Given the description of an element on the screen output the (x, y) to click on. 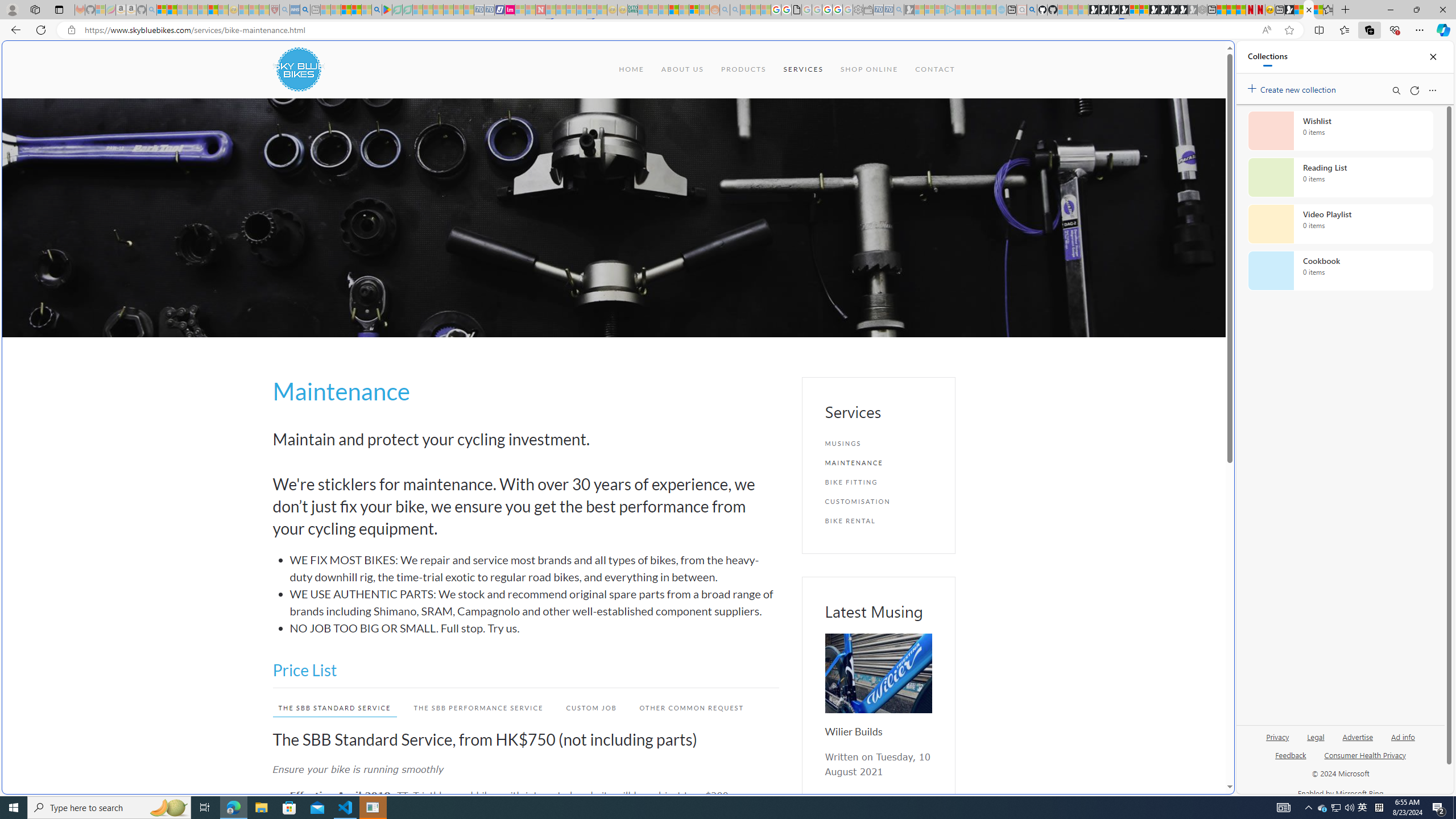
Latest Politics News & Archive | Newsweek.com - Sleeping (539, 9)
View site information (70, 29)
utah sues federal government - Search (304, 9)
New Tab (1346, 9)
Close tab (1308, 9)
Cookbook collection, 0 items (1339, 270)
google_privacy_policy_zh-CN.pdf (796, 9)
Tab actions menu (58, 9)
NO JOB TOO BIG OR SMALL. Full stop. Try us. (533, 628)
THE SBB STANDARD SERVICE (328, 707)
SHOP ONLINE (869, 68)
